Given the description of an element on the screen output the (x, y) to click on. 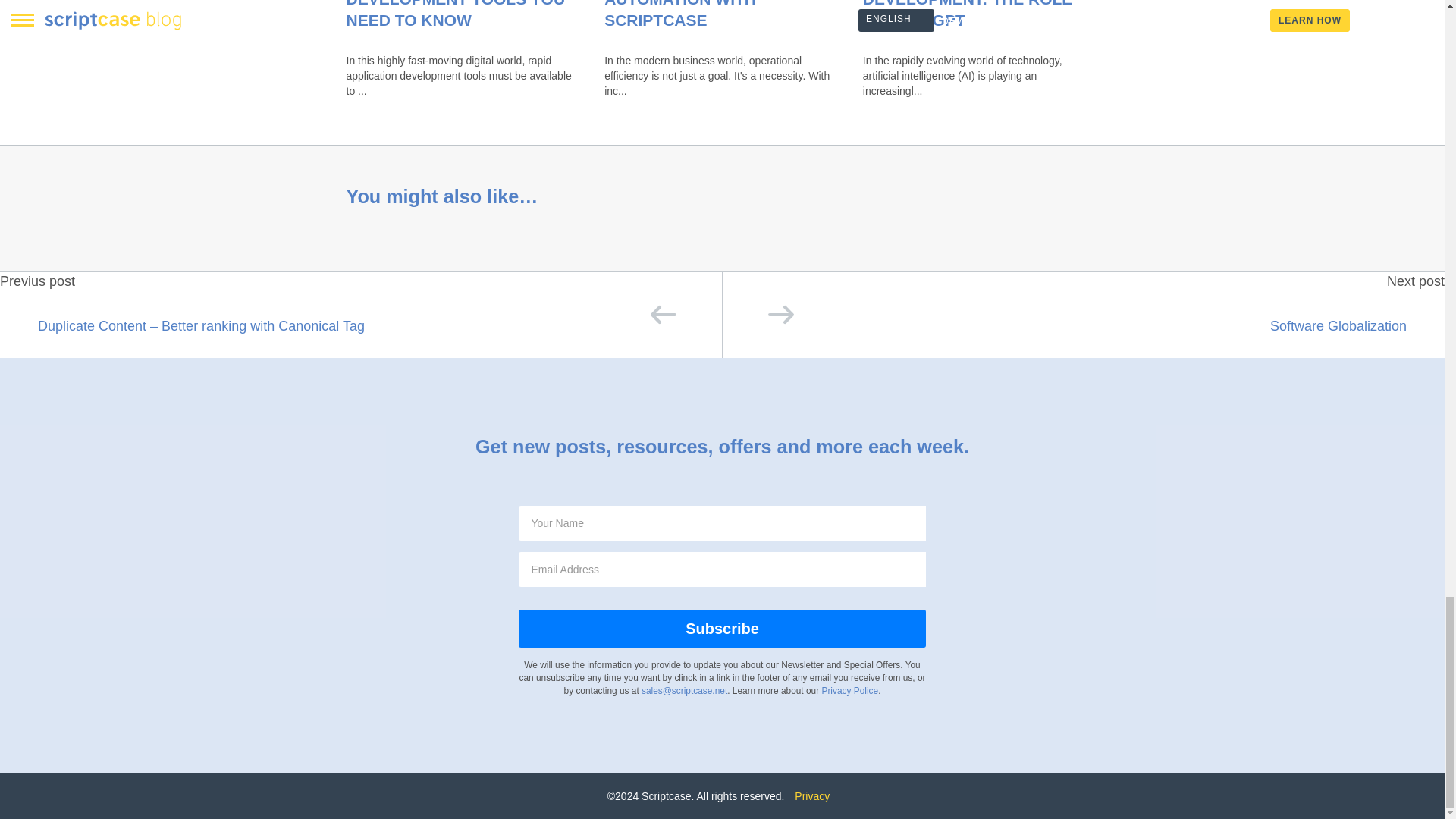
BUSINESS PROCESS AUTOMATION WITH SCRIPTCASE (686, 14)
Privacy Police (849, 690)
AI-DRIVEN SOFTWARE DEVELOPMENT: THE ROLE OF CHATGPT (968, 14)
Subscribe (721, 628)
Subscribe (721, 628)
TOP 10 RAPID APP DEVELOPMENT TOOLS YOU NEED TO KNOW (455, 14)
